Given the description of an element on the screen output the (x, y) to click on. 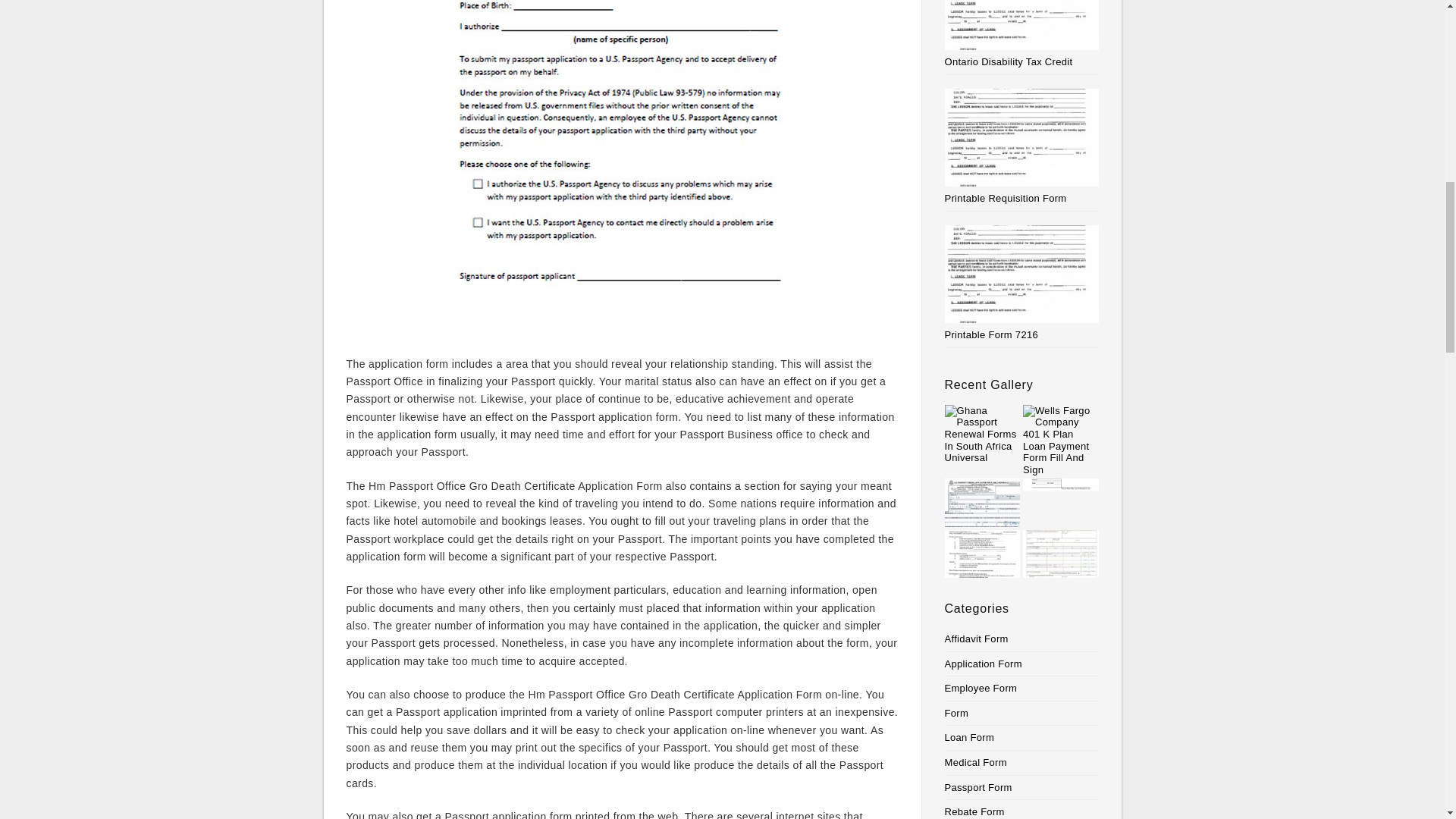
Ontario Disability Tax Credit (1008, 61)
Printable Requisition Form (1005, 197)
Printable Form 7216 (991, 334)
